Given the description of an element on the screen output the (x, y) to click on. 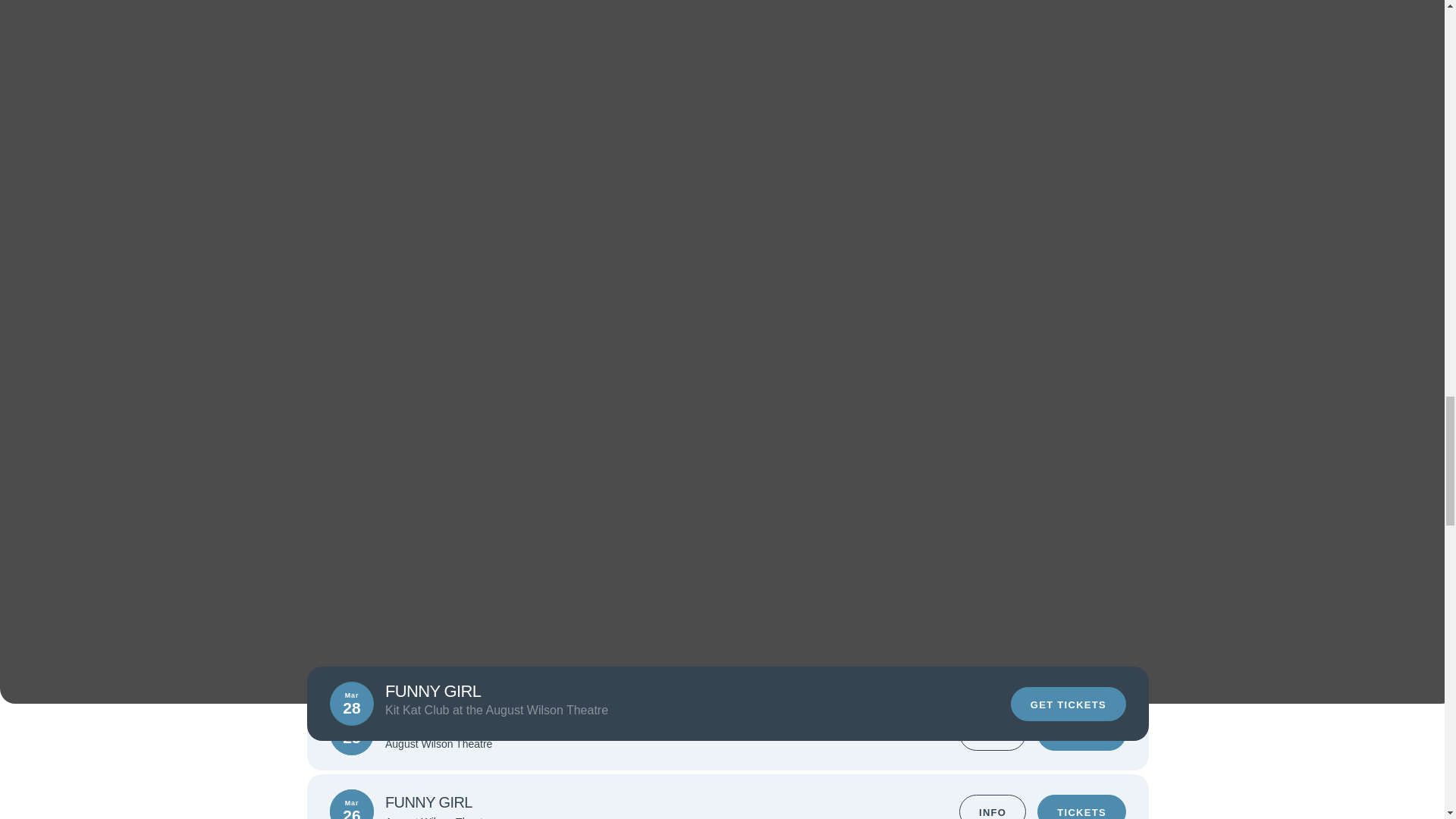
Funny Girl at August Wilson Theatre tickets (727, 79)
INFO (992, 732)
TICKETS (1080, 732)
TICKETS (1080, 806)
GET TICKETS (1067, 704)
INFO (992, 806)
